Given the description of an element on the screen output the (x, y) to click on. 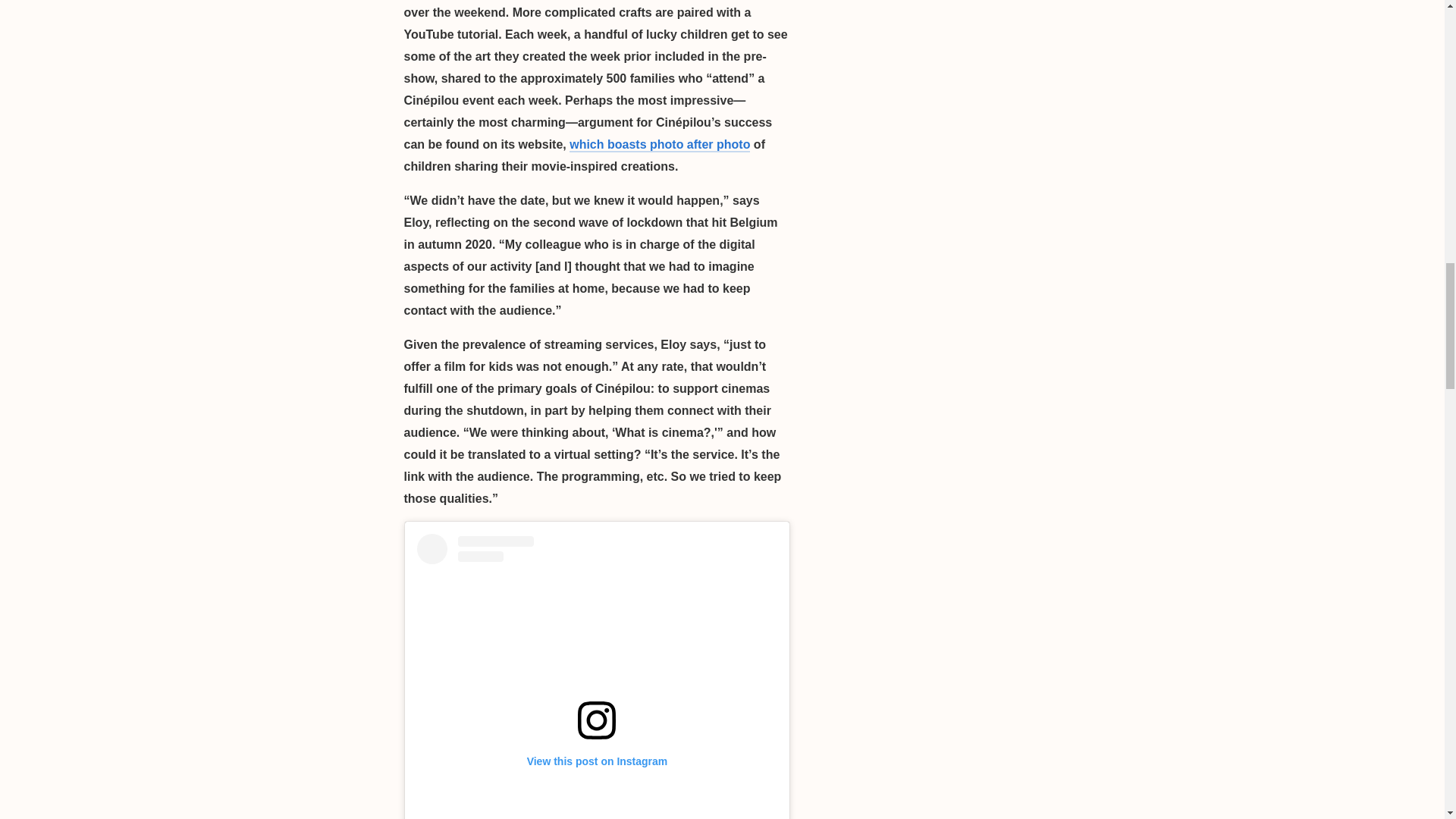
which boasts photo after photo (659, 145)
View this post on Instagram (596, 676)
